Given the description of an element on the screen output the (x, y) to click on. 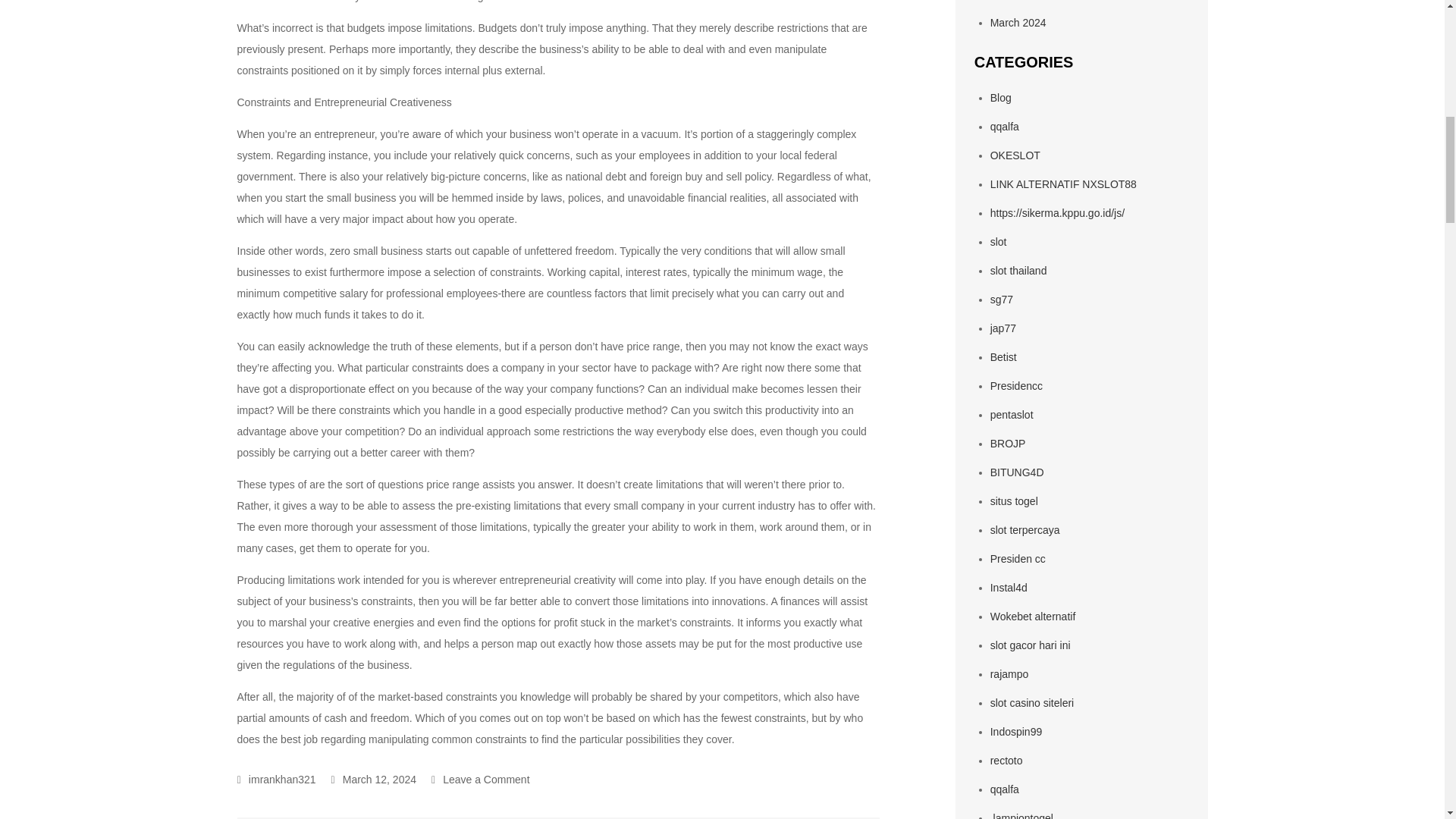
slot (998, 241)
Betist (1003, 357)
Blog (1000, 97)
jap77 (1003, 328)
Presidencc (1016, 386)
qqalfa (1004, 126)
sg77 (1001, 299)
OKESLOT (1015, 155)
slot thailand (1018, 270)
March 12, 2024 (373, 779)
imrankhan321 (276, 779)
LINK ALTERNATIF NXSLOT88 (1063, 184)
March 2024 (1018, 22)
